Given the description of an element on the screen output the (x, y) to click on. 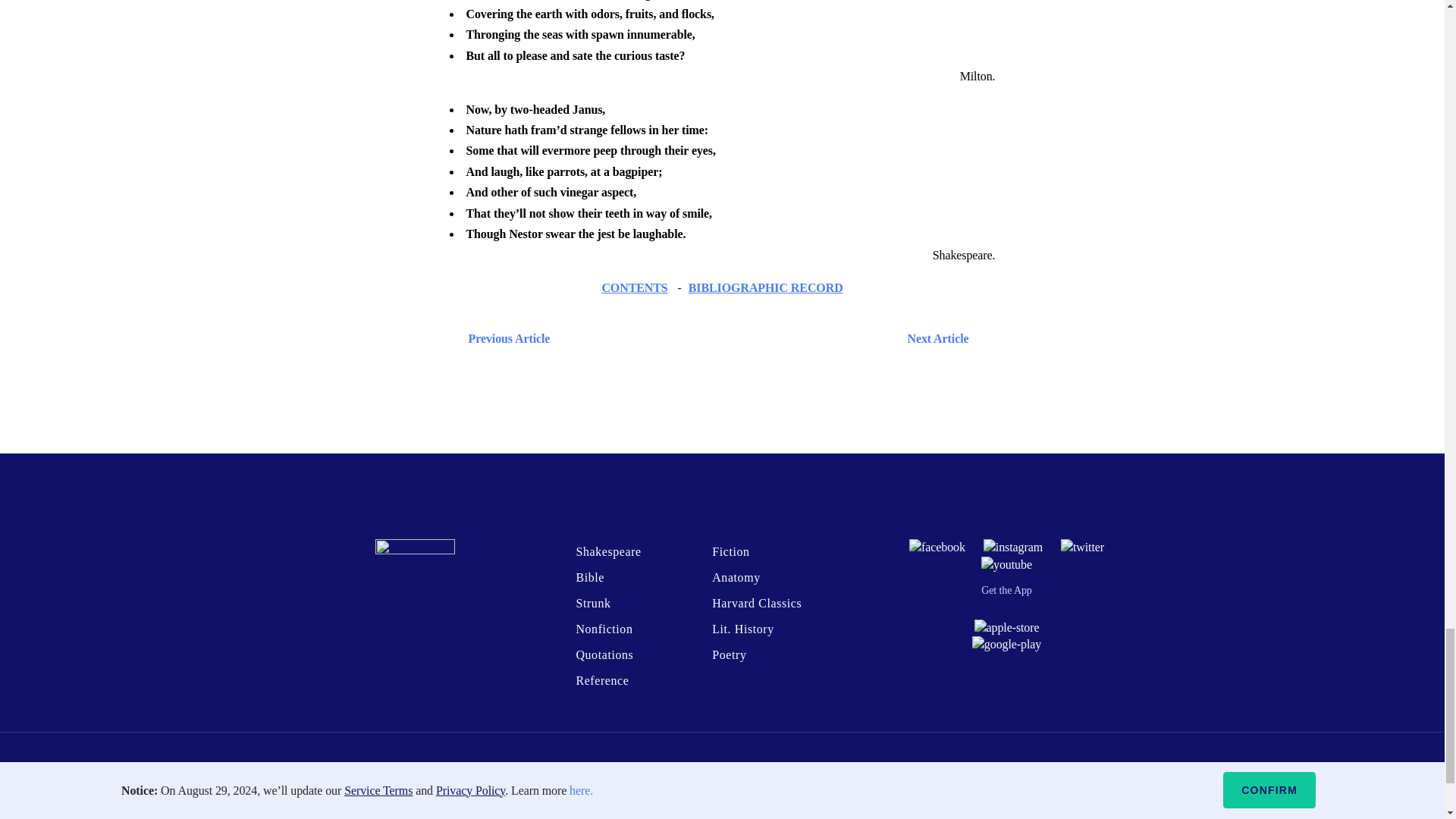
Reference (601, 680)
Nonfiction (603, 628)
Quotations (604, 654)
Bible (589, 576)
Anatomy (735, 576)
Strunk (592, 603)
Poetry (728, 654)
BIBLIOGRAPHIC RECORD (765, 287)
Previous Article (505, 338)
Harvard Classics (756, 603)
